Given the description of an element on the screen output the (x, y) to click on. 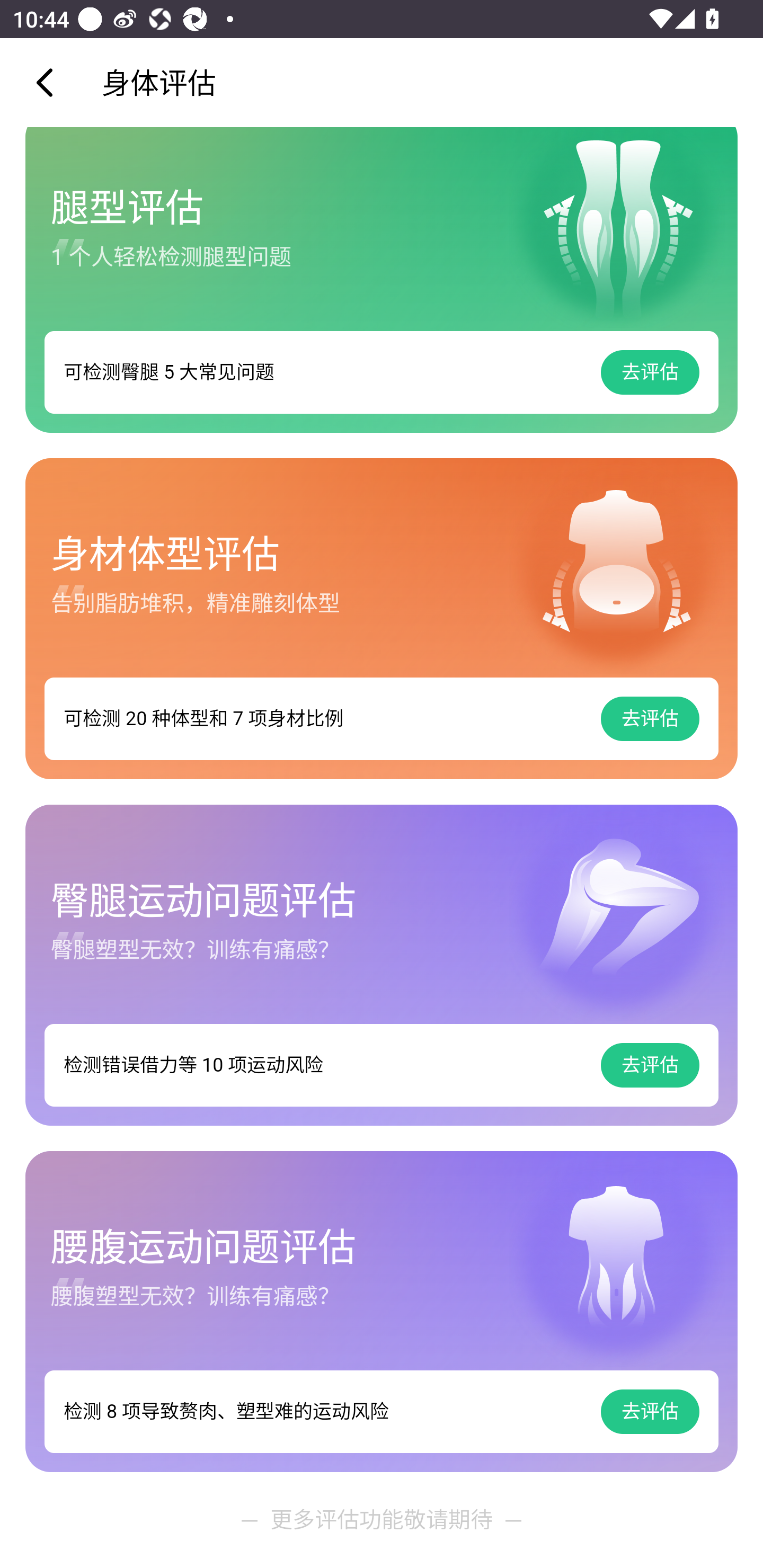
Left Button In Title Bar (50, 82)
1 (381, 280)
1 (381, 618)
1 (381, 965)
1 (381, 1311)
